Given the description of an element on the screen output the (x, y) to click on. 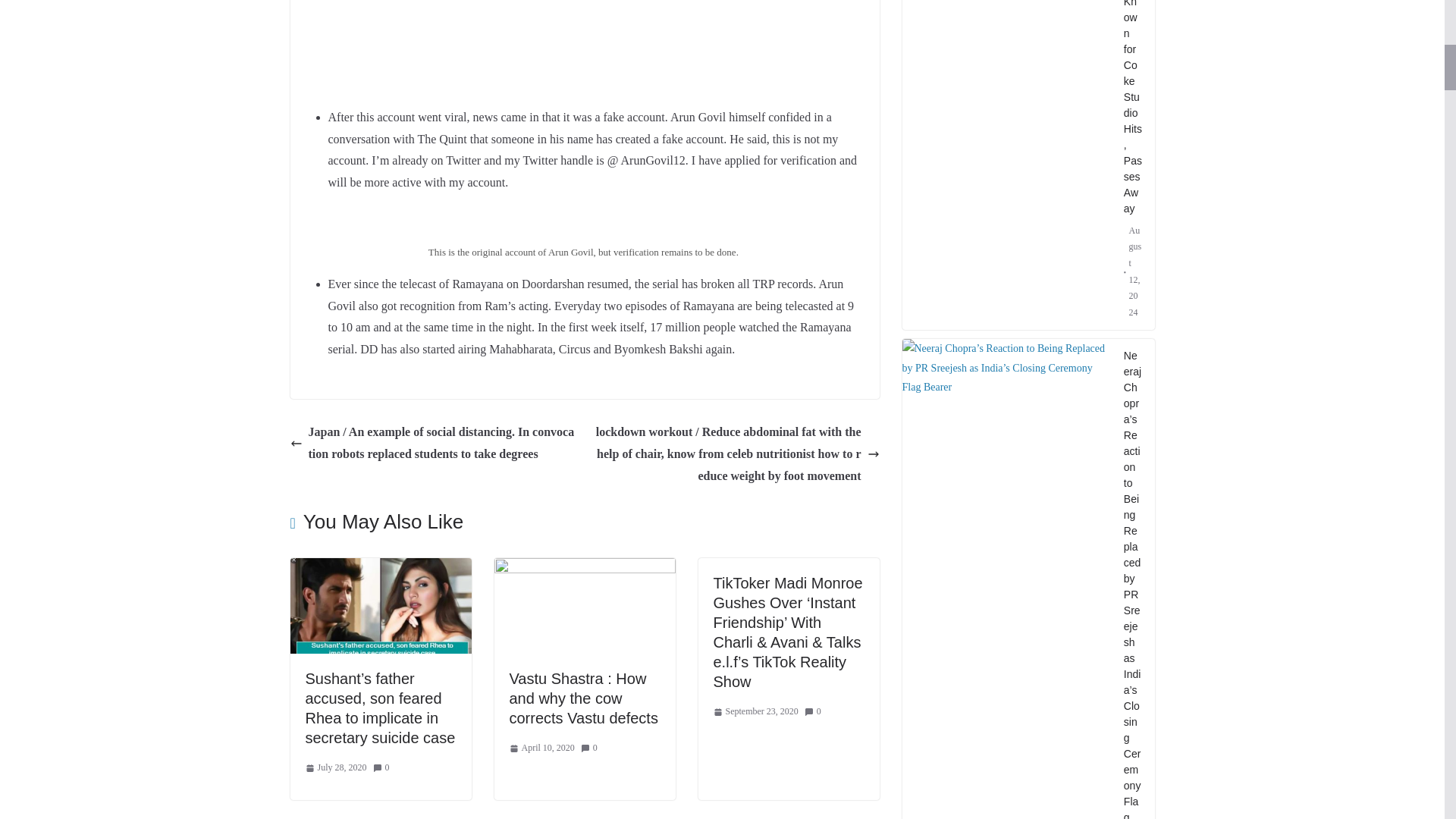
9:26 pm (335, 768)
April 10, 2020 (542, 748)
5:08 pm (542, 748)
Vastu Shastra : How and why the cow corrects Vastu defects (583, 698)
Vastu Shastra : How and why the cow corrects Vastu defects (585, 567)
July 28, 2020 (335, 768)
Vastu Shastra : How and why the cow corrects Vastu defects (583, 698)
